Given the description of an element on the screen output the (x, y) to click on. 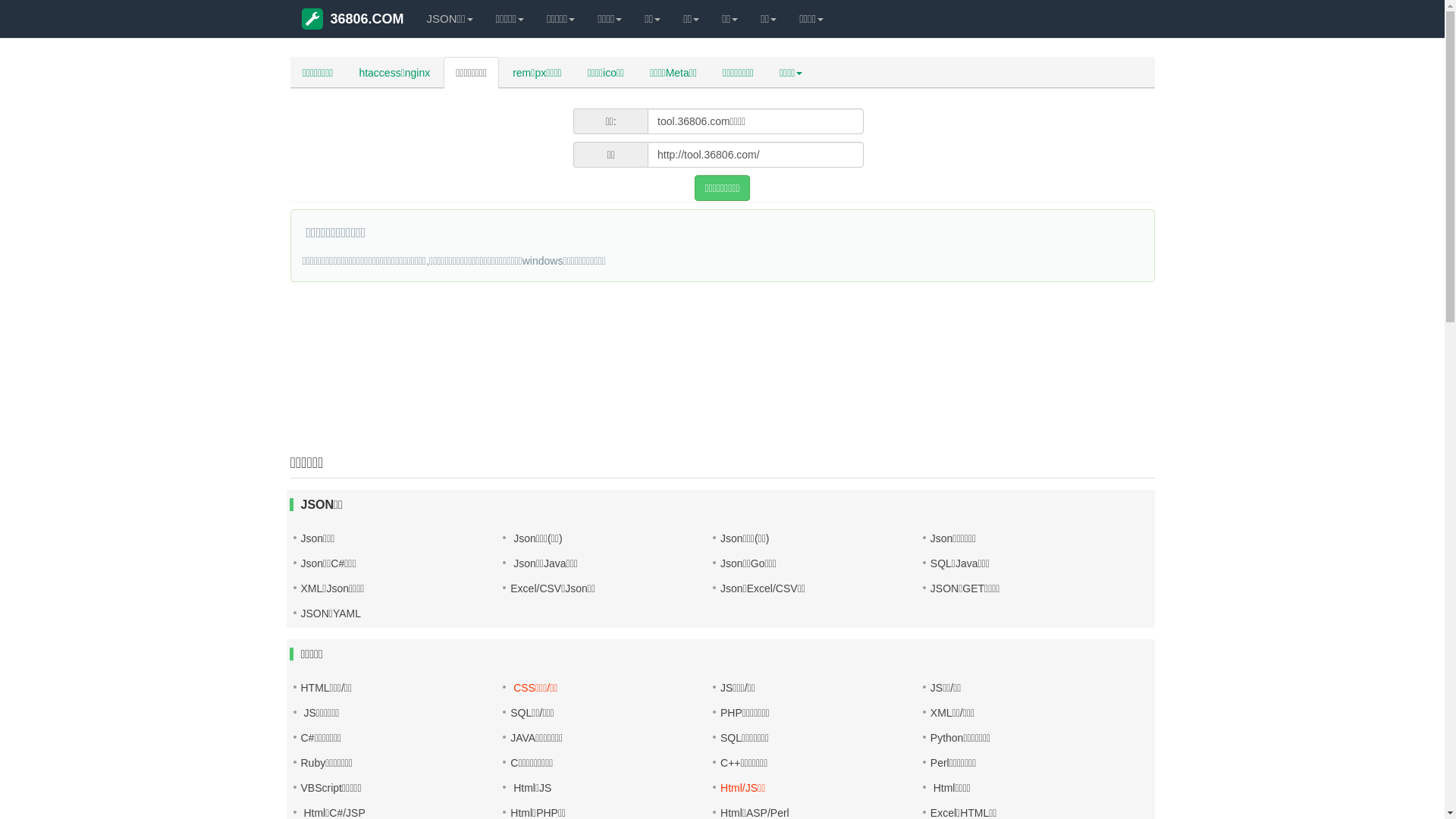
36806.COM Element type: text (352, 18)
